Given the description of an element on the screen output the (x, y) to click on. 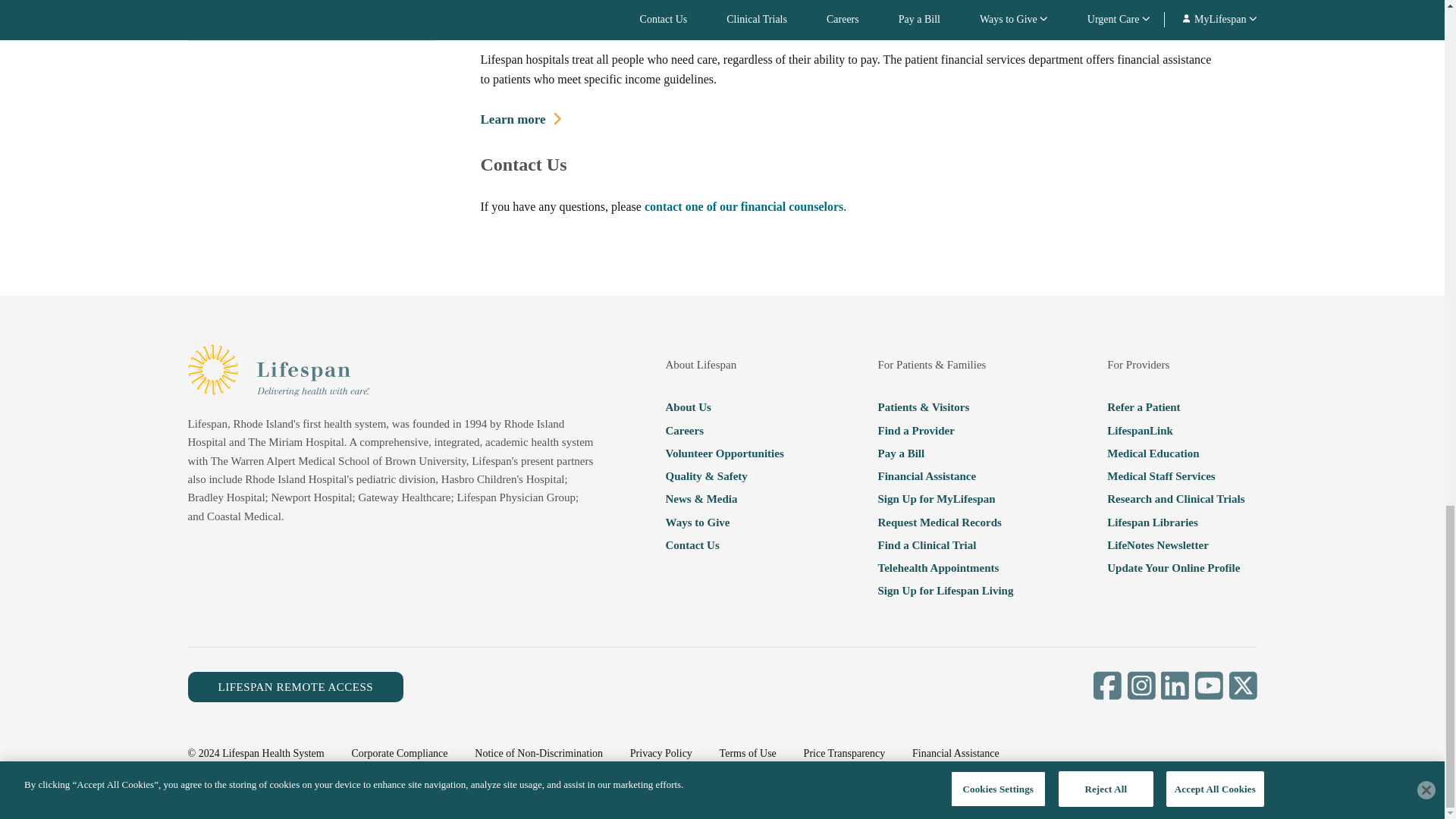
Ways to give to Lifespan hospitals (724, 522)
Find a Lifespan provider (945, 429)
Pay a bill online (945, 453)
How to request medical records (945, 522)
Information about financial assistance (945, 476)
Learn more about financial assistance (521, 119)
Sign up or access the MyLifespan online patient portal (945, 498)
